Given the description of an element on the screen output the (x, y) to click on. 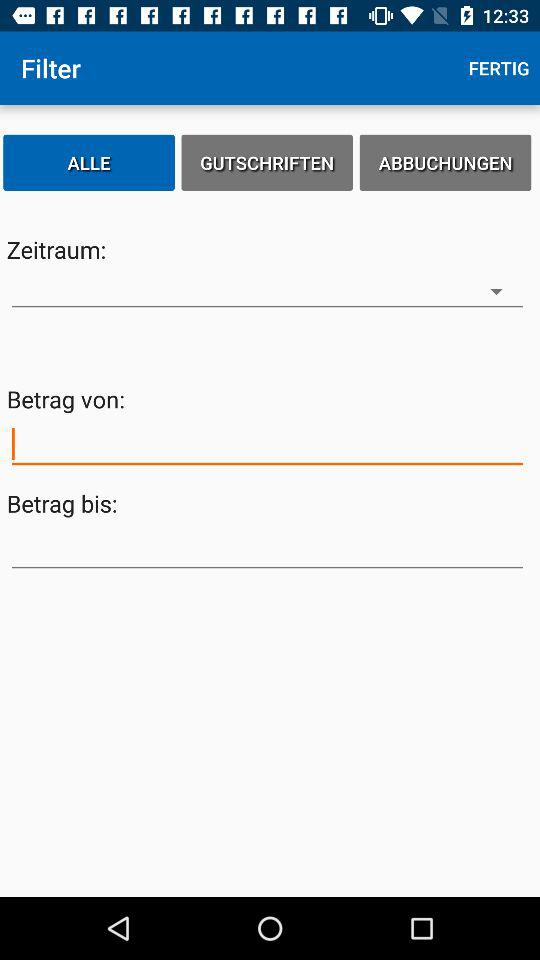
choose the item to the left of the gutschriften item (89, 162)
